Given the description of an element on the screen output the (x, y) to click on. 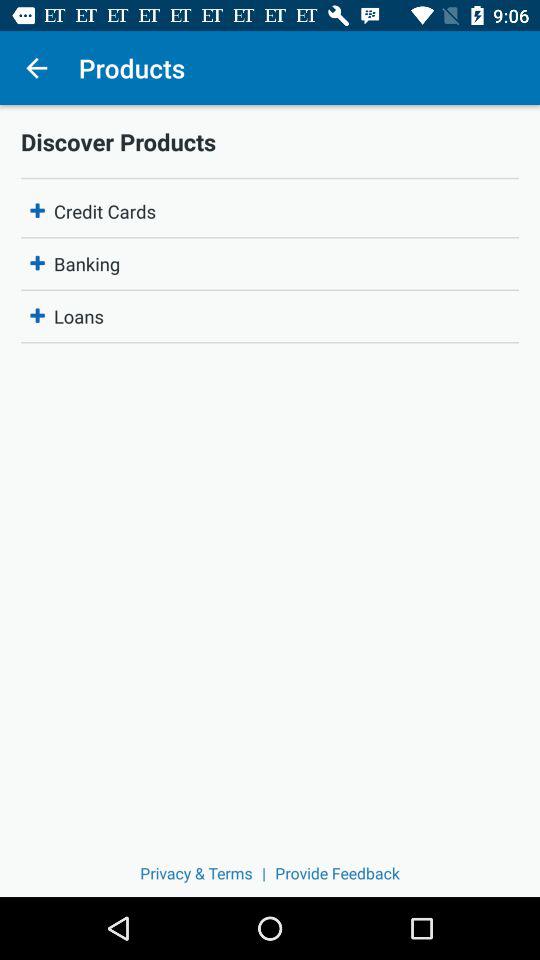
select discover products icon (270, 141)
